Given the description of an element on the screen output the (x, y) to click on. 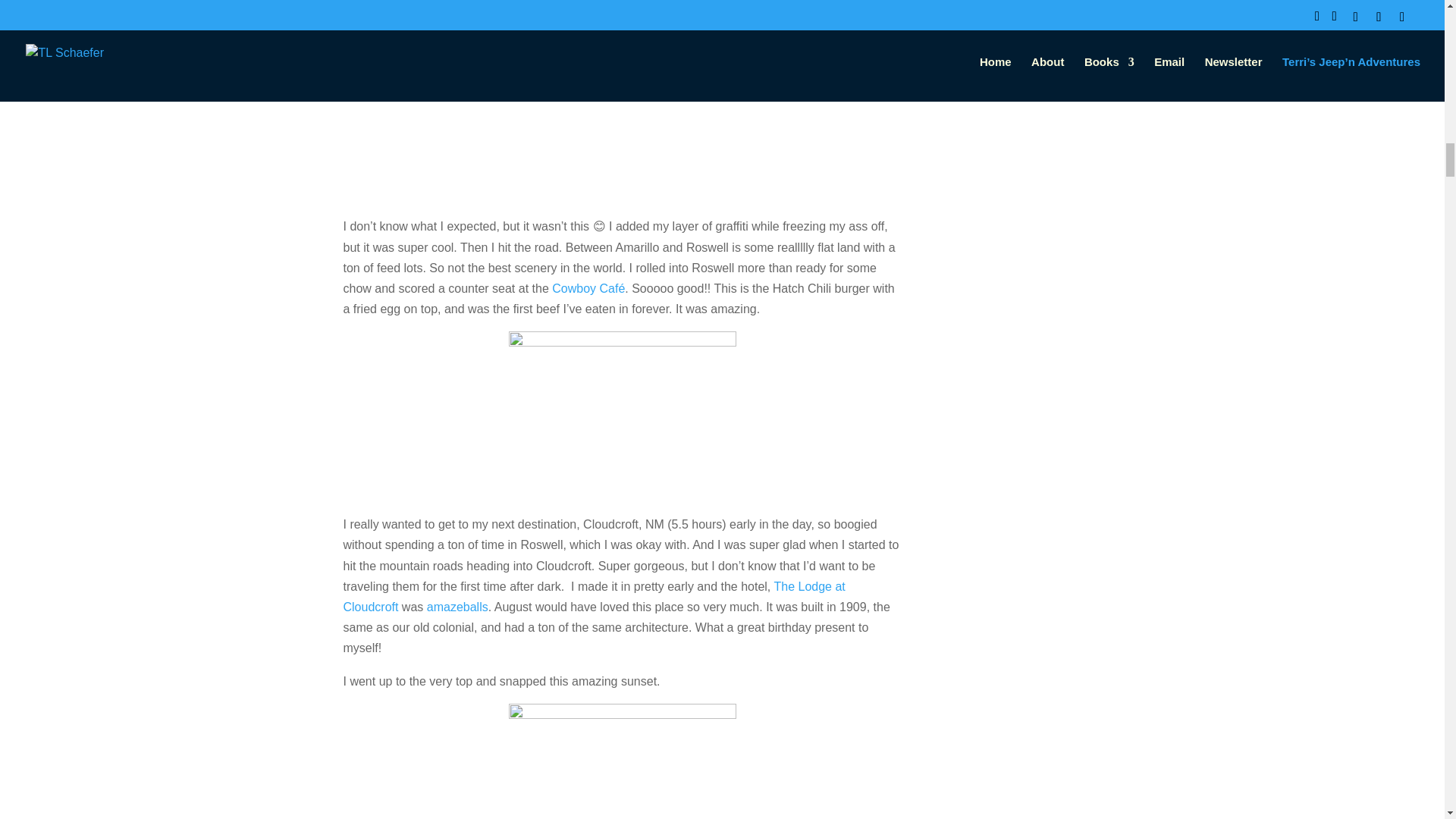
amazeballs (456, 606)
The Lodge at Cloudcroft (593, 596)
Cadillac Ranch (427, 10)
